Given the description of an element on the screen output the (x, y) to click on. 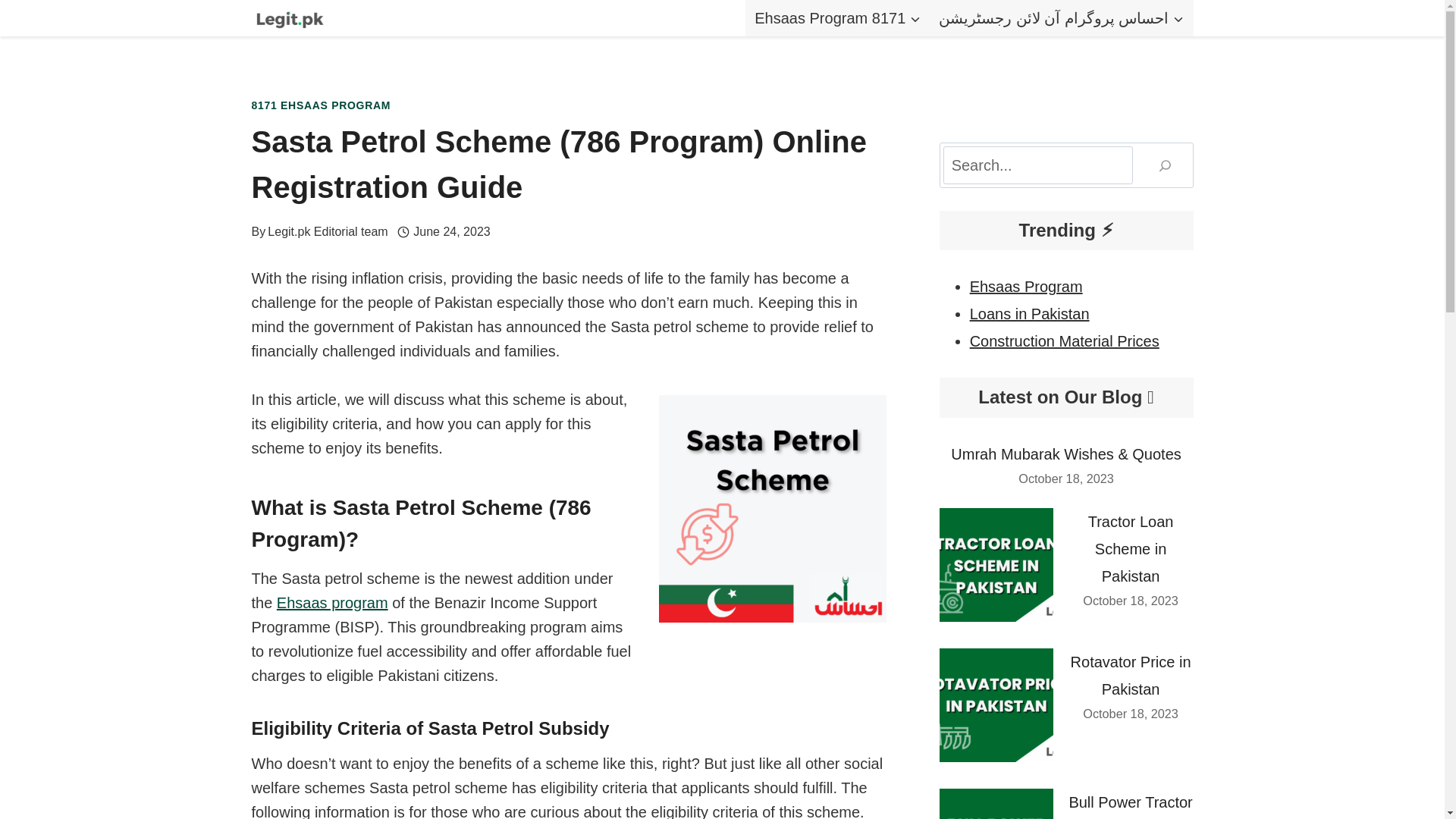
Construction Material Prices (1063, 340)
8171 EHSAAS PROGRAM (321, 105)
Ehsaas Program (1026, 286)
Bull Power Tractor Price in Pakistan (1130, 806)
Loans in Pakistan (1029, 313)
Rotavator Price in Pakistan (1130, 675)
Tractor Loan Scheme in Pakistan (1130, 548)
Ehsaas program (332, 602)
Ehsaas Program 8171 (837, 18)
